Given the description of an element on the screen output the (x, y) to click on. 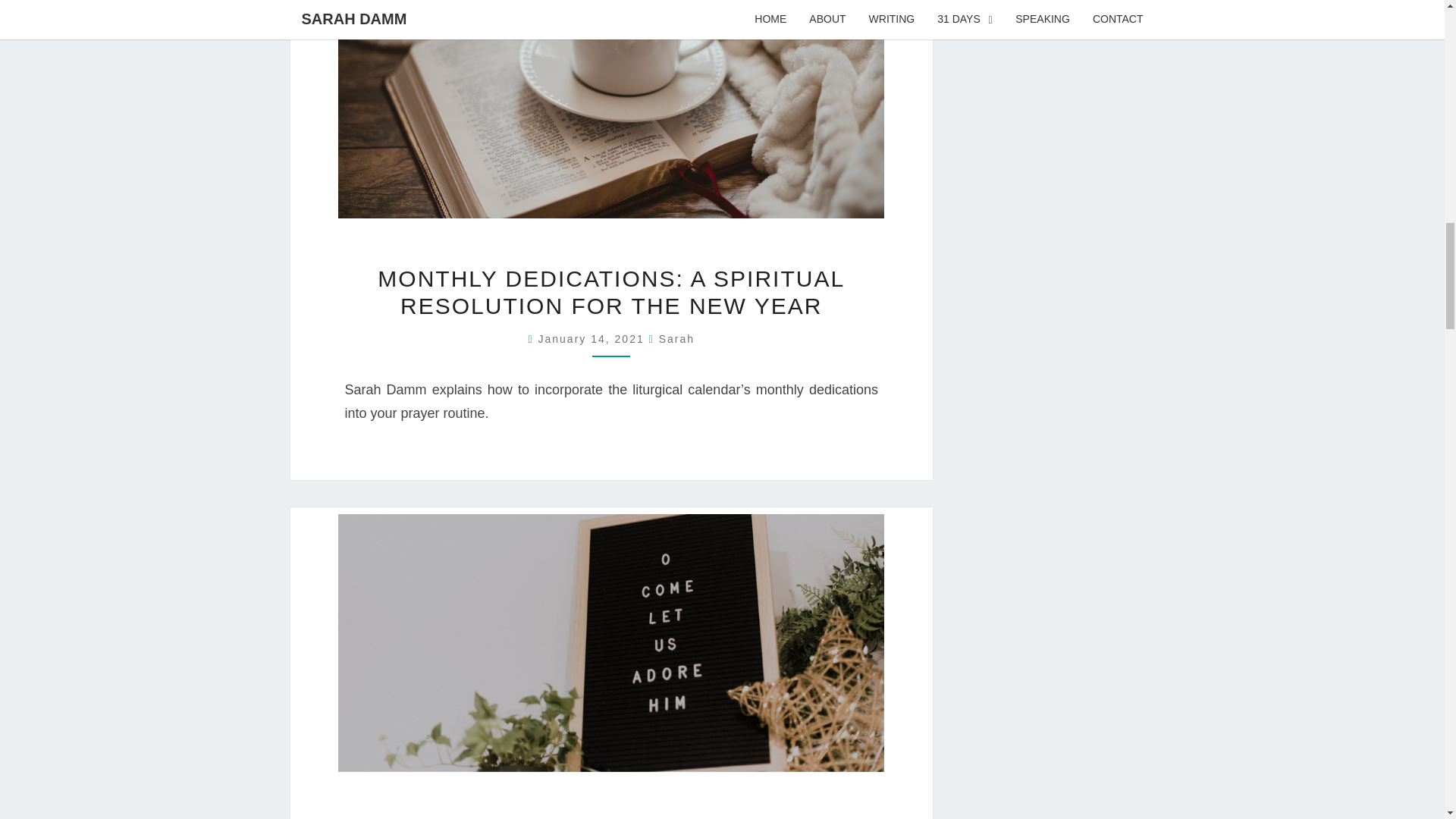
2:26 pm (593, 338)
View all posts by Sarah (676, 338)
January 14, 2021 (593, 338)
MONTHLY DEDICATIONS: A SPIRITUAL RESOLUTION FOR THE NEW YEAR (610, 292)
Sarah (676, 338)
